Given the description of an element on the screen output the (x, y) to click on. 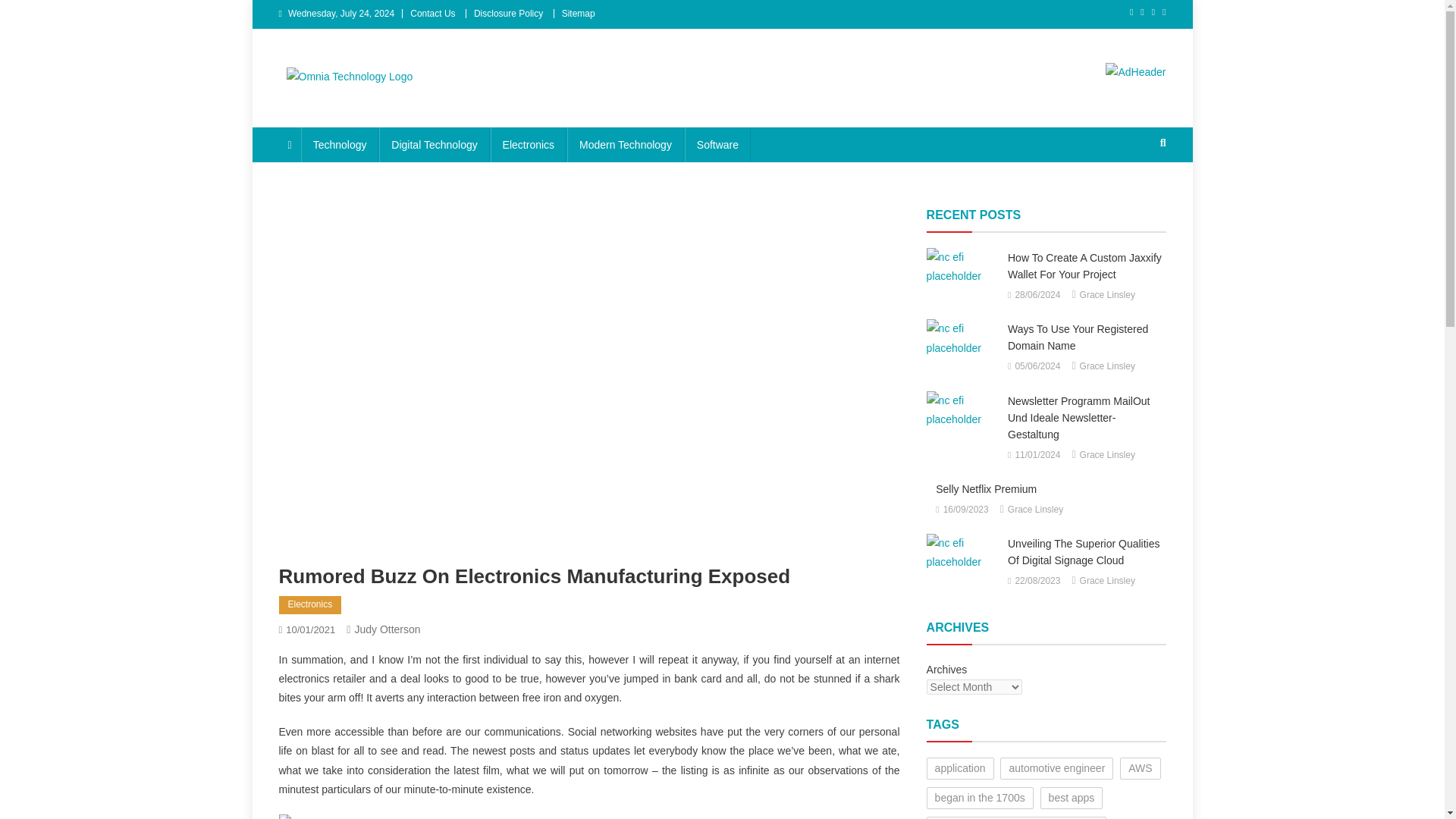
Disclosure Policy (508, 13)
Software (717, 144)
Search (1133, 193)
Technology (339, 144)
Contact Us (432, 13)
Sitemap (578, 13)
Omnia Technology (387, 108)
Newsletter Programm MailOut und ideale Newsletter-Gestaltung (962, 410)
Unveiling the Superior Qualities of Digital Signage Cloud (962, 552)
Ways To Use Your Registered Domain Name (962, 338)
Electronics (310, 605)
Electronics (528, 144)
Modern Technology (625, 144)
